Given the description of an element on the screen output the (x, y) to click on. 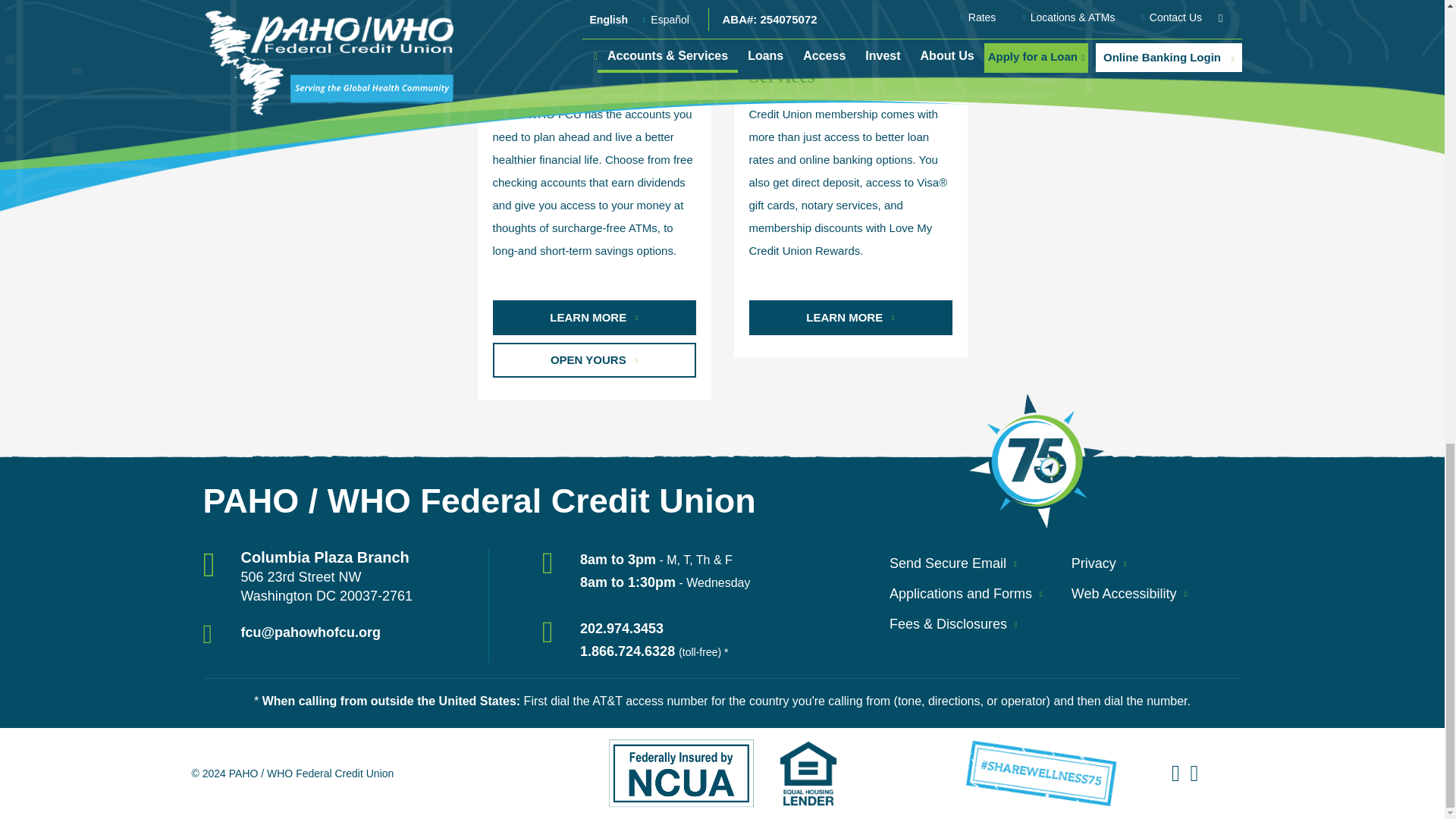
More info on Services (850, 316)
Open Yours for Accounts (594, 359)
More info on Accounts (594, 316)
